Given the description of an element on the screen output the (x, y) to click on. 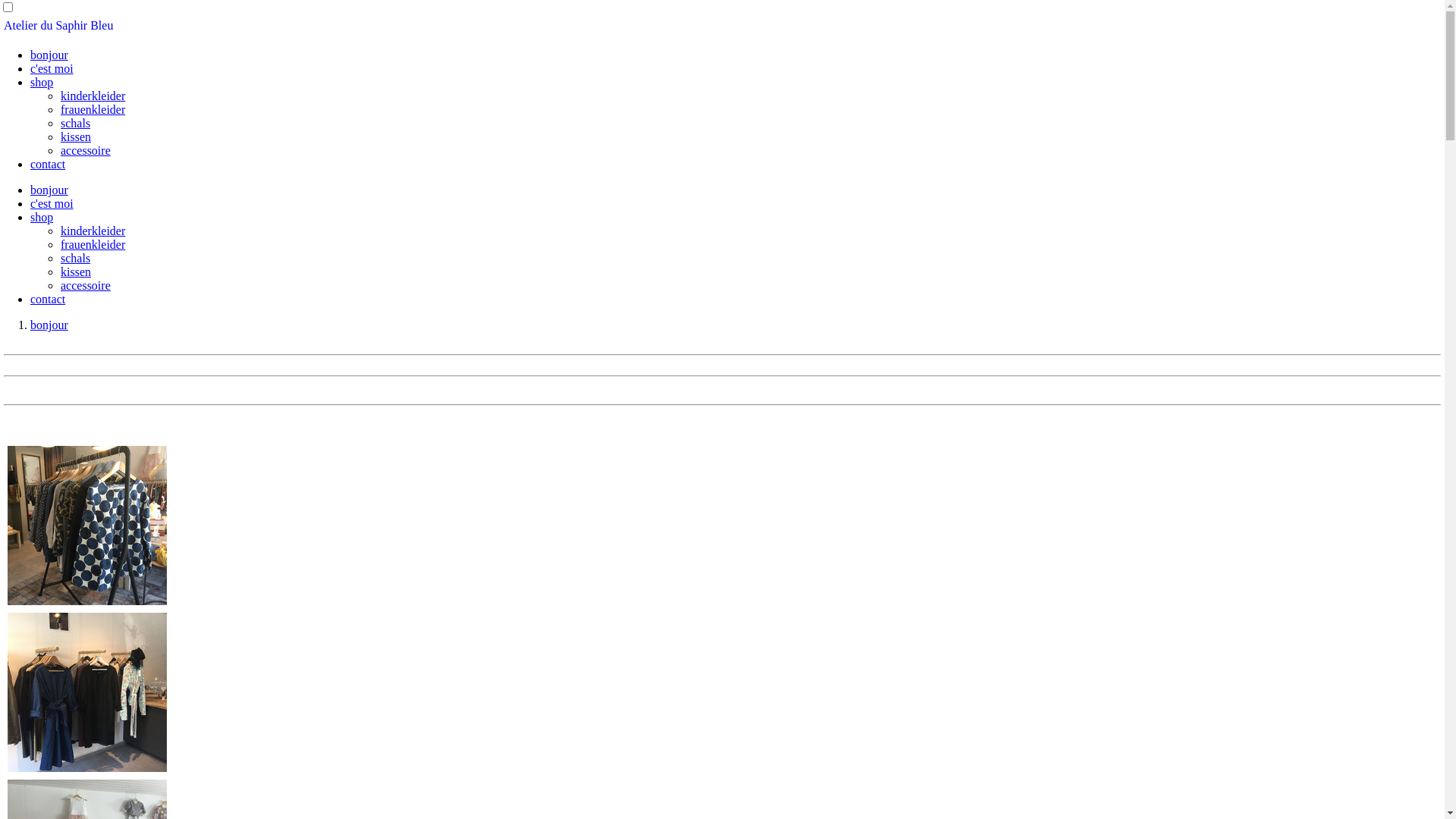
c'est moi Element type: text (51, 203)
shop Element type: text (41, 216)
kinderkleider Element type: text (92, 230)
kinderkleider Element type: text (92, 95)
Atelier du Saphir Bleu Element type: text (57, 24)
bonjour Element type: text (49, 189)
kissen Element type: text (75, 136)
accessoire Element type: text (85, 285)
bonjour Element type: text (49, 54)
c'est moi Element type: text (51, 68)
accessoire Element type: text (85, 150)
contact Element type: text (47, 298)
schals Element type: text (75, 257)
kissen Element type: text (75, 271)
frauenkleider Element type: text (92, 109)
contact Element type: text (47, 163)
shop Element type: text (41, 81)
bonjour Element type: text (49, 324)
frauenkleider Element type: text (92, 244)
schals Element type: text (75, 122)
